Given the description of an element on the screen output the (x, y) to click on. 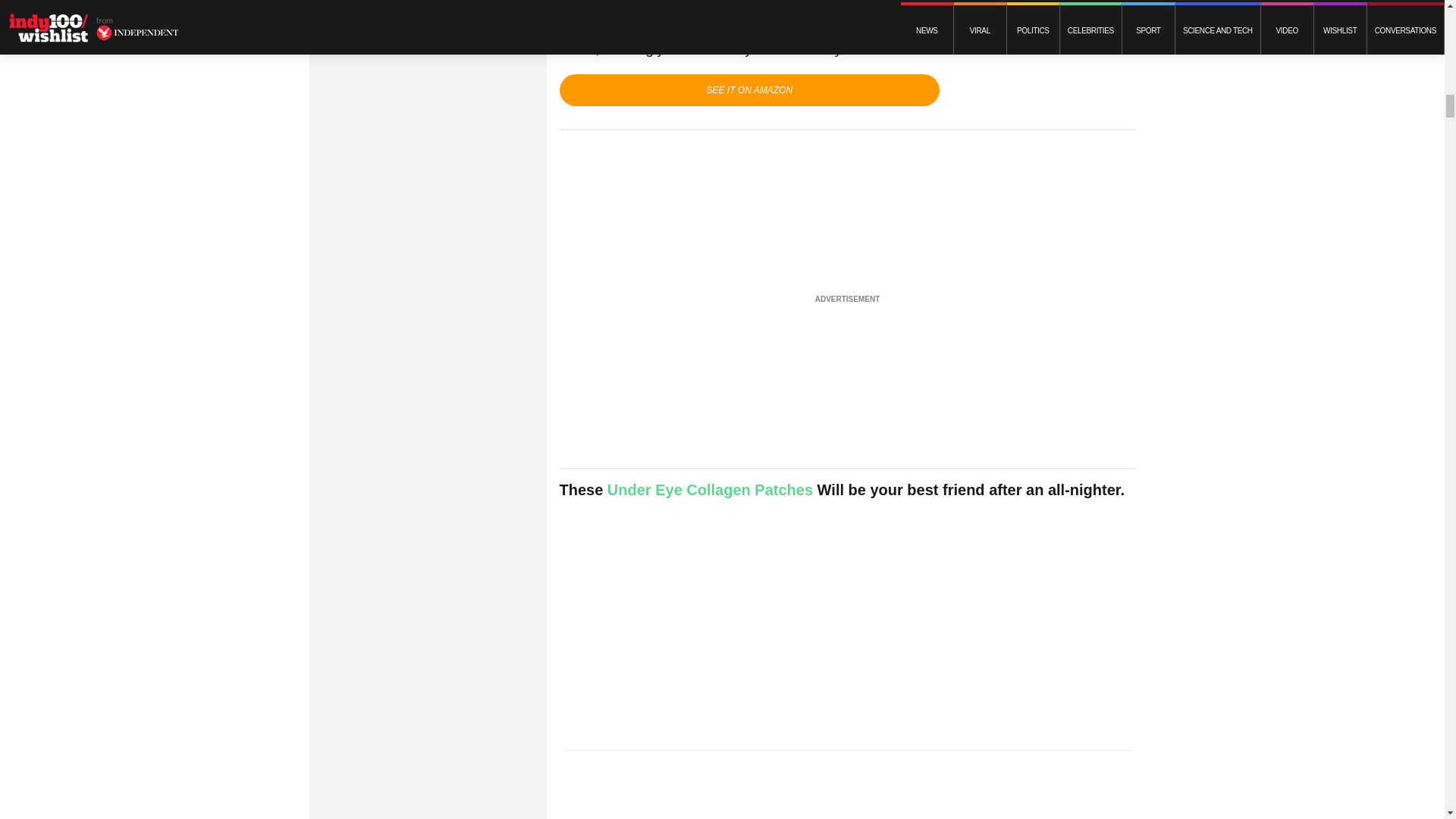
Under Eye Collagen Patches (709, 489)
Buy Now (749, 90)
Silicone Face Cleanser Brush (917, 9)
